Given the description of an element on the screen output the (x, y) to click on. 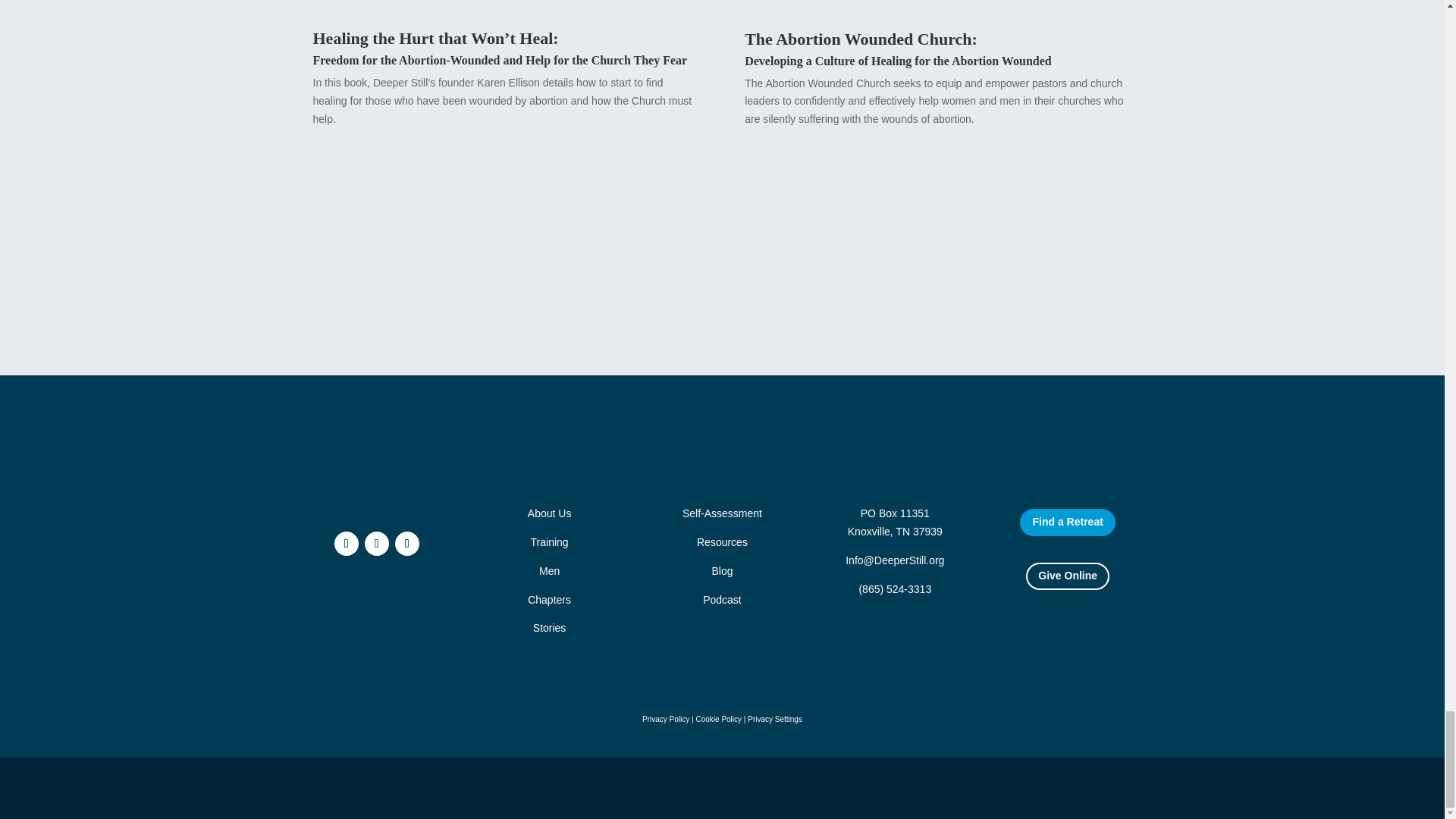
Privacy Policy (665, 718)
Find a Retreat (1067, 522)
Blog (721, 571)
Training (550, 541)
Chapters (548, 598)
About Us (549, 512)
Men (548, 571)
Follow on Instagram (406, 543)
FRONTCOVER (938, 7)
Give Online (1067, 575)
